Given the description of an element on the screen output the (x, y) to click on. 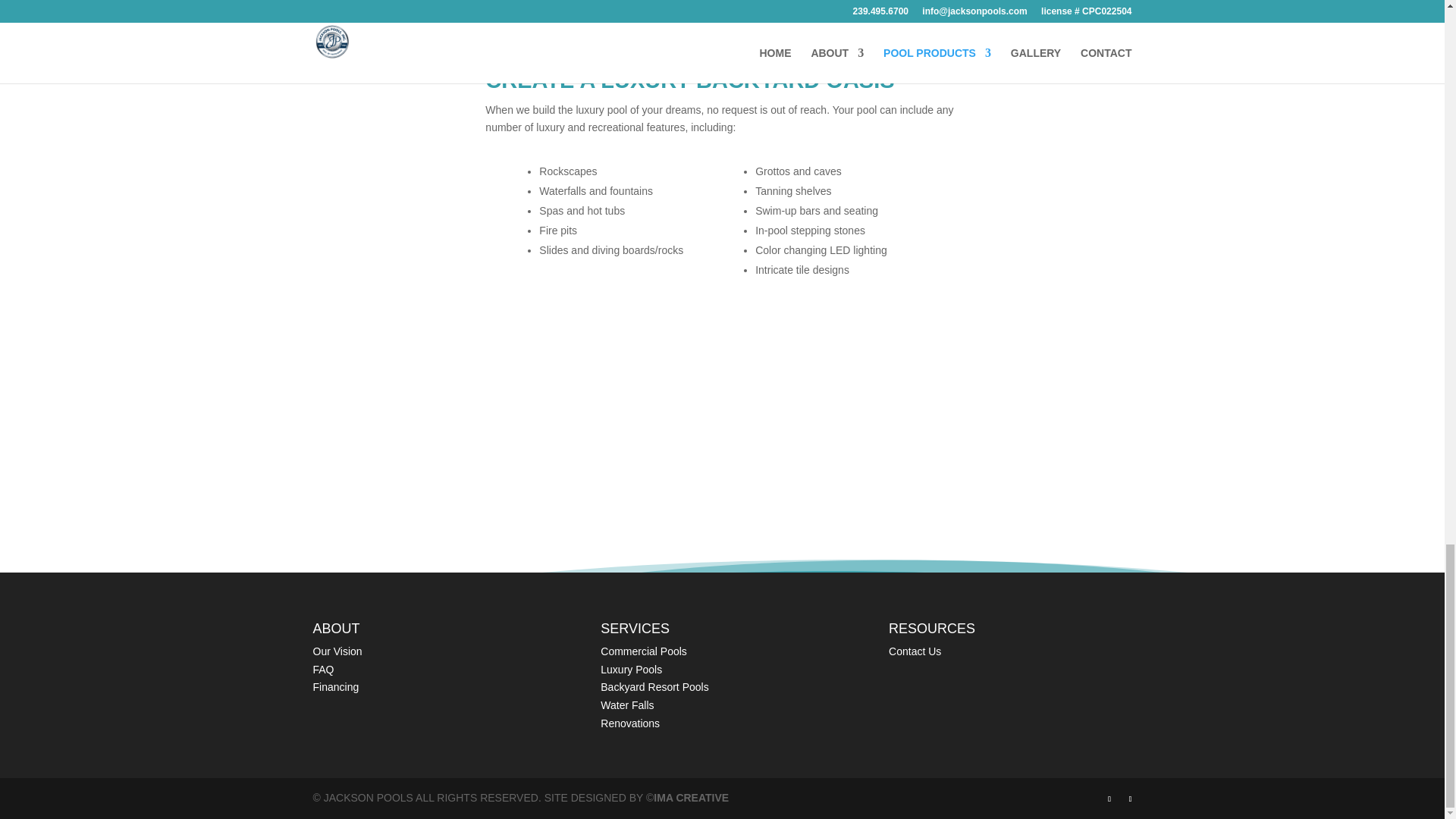
Our Vision (337, 651)
IMA CREATIVE (691, 797)
Backyard Resort Pools (653, 686)
Water Falls (626, 705)
Luxury Pools (630, 669)
Renovations (629, 723)
FAQ (323, 669)
Commercial Pools (643, 651)
Financing (335, 686)
Contact Us (914, 651)
